Given the description of an element on the screen output the (x, y) to click on. 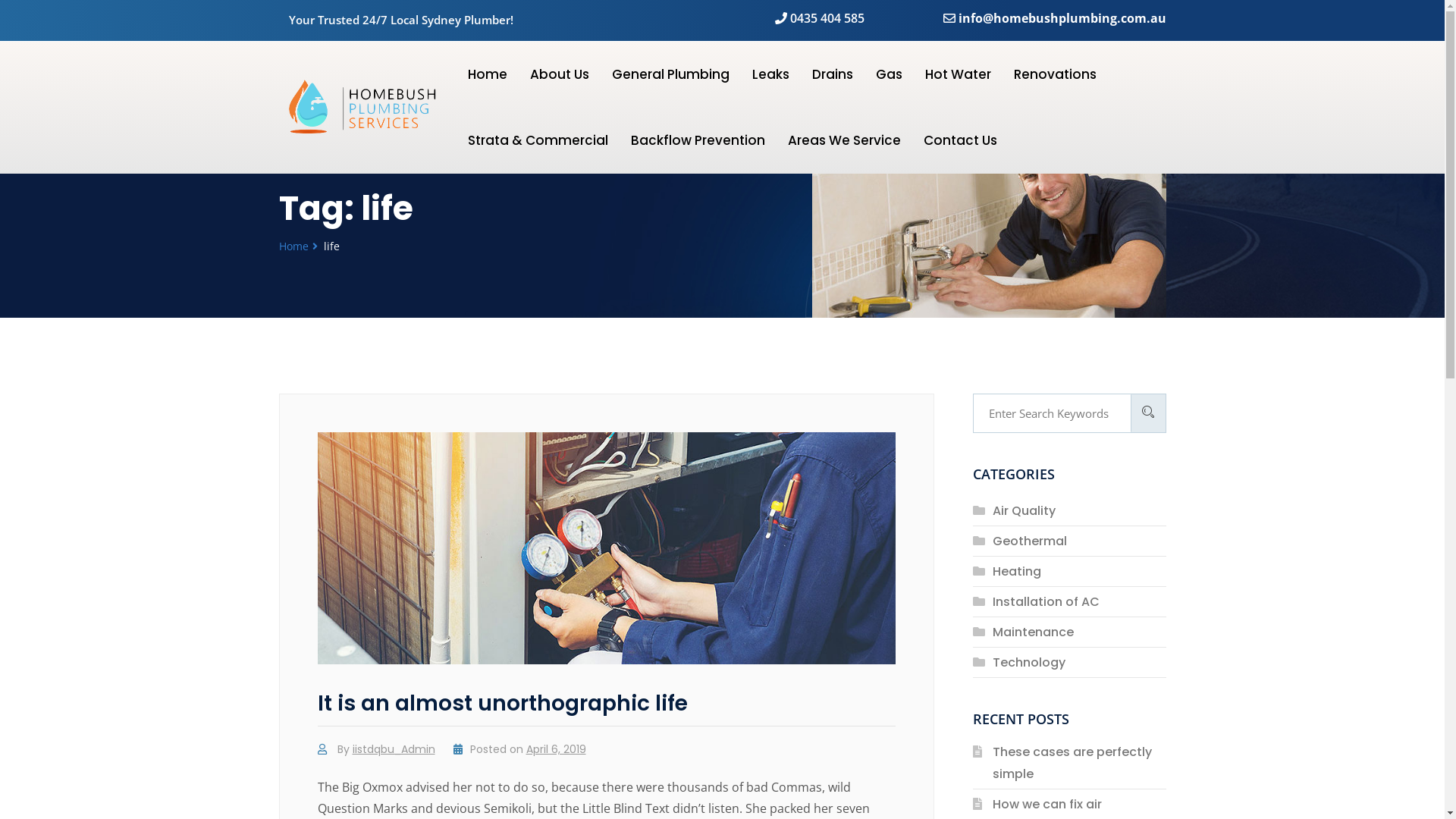
Home Element type: text (293, 245)
General Plumbing Element type: text (670, 74)
Strata & Commercial Element type: text (537, 140)
Technology Element type: text (1028, 662)
Areas We Service Element type: text (843, 140)
Contact Us Element type: text (960, 140)
Home Element type: text (487, 74)
Installation of AC Element type: text (1045, 601)
Maintenance Element type: text (1032, 631)
Drains Element type: text (832, 74)
Geothermal Element type: text (1029, 540)
Renovations Element type: text (1054, 74)
Backflow Prevention Element type: text (697, 140)
info@homebushplumbing.com.au Element type: text (1054, 17)
Leaks Element type: text (770, 74)
Heating Element type: text (1016, 571)
April 6, 2019 Element type: text (556, 748)
These cases are perfectly simple Element type: text (1071, 762)
Top Plumbers in Sydney Element type: hover (373, 107)
iistdqbu_Admin Element type: text (392, 748)
It is an almost unorthographic life Element type: text (501, 703)
Gas Element type: text (888, 74)
Air Quality Element type: text (1023, 510)
About Us Element type: text (559, 74)
Hot Water Element type: text (958, 74)
0435 404 585 Element type: text (819, 17)
